Given the description of an element on the screen output the (x, y) to click on. 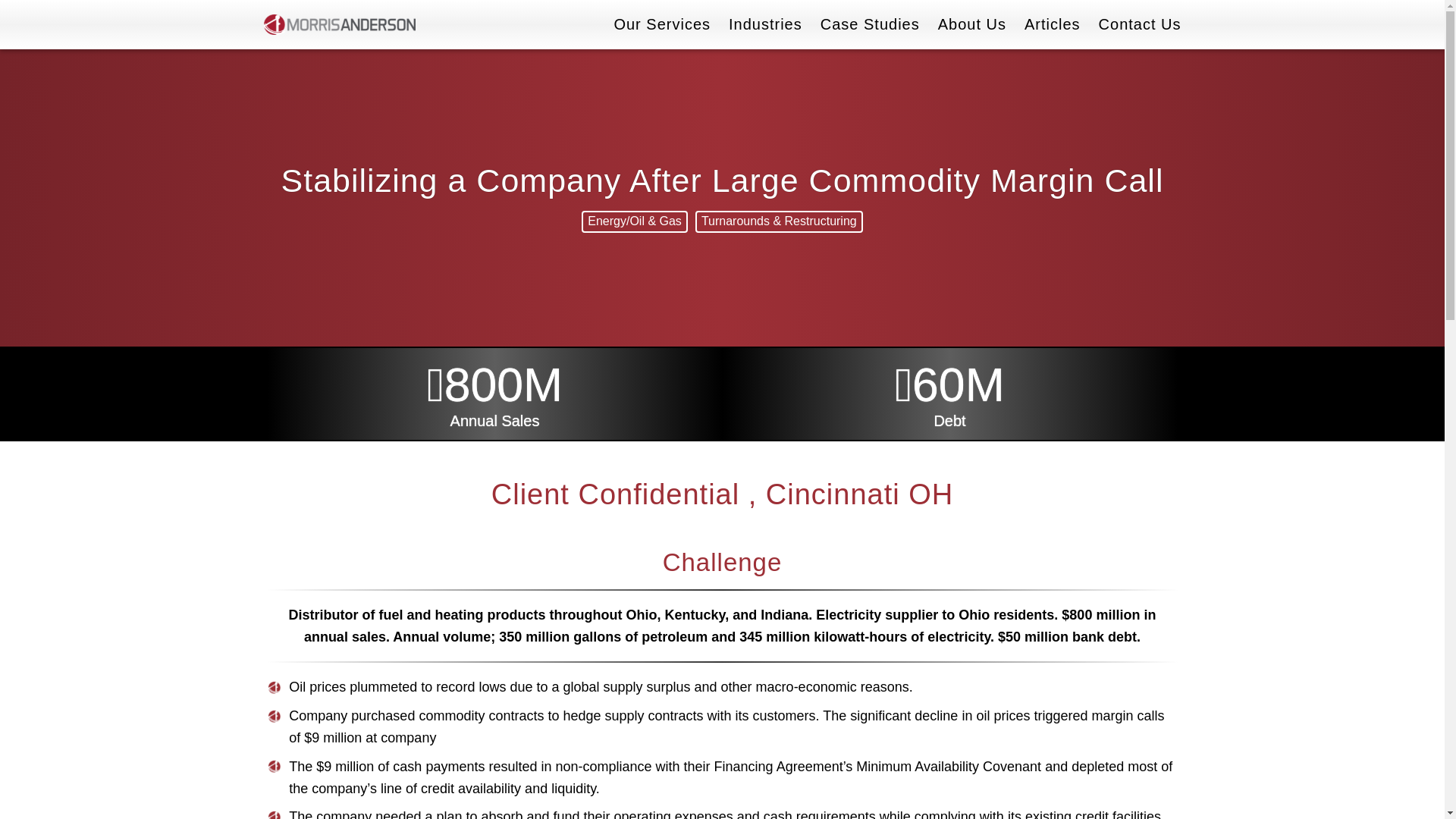
Contact Us (1139, 24)
About Us (971, 24)
Industries (765, 24)
Case Studies (870, 24)
Our Services (661, 24)
Articles (1052, 24)
